Given the description of an element on the screen output the (x, y) to click on. 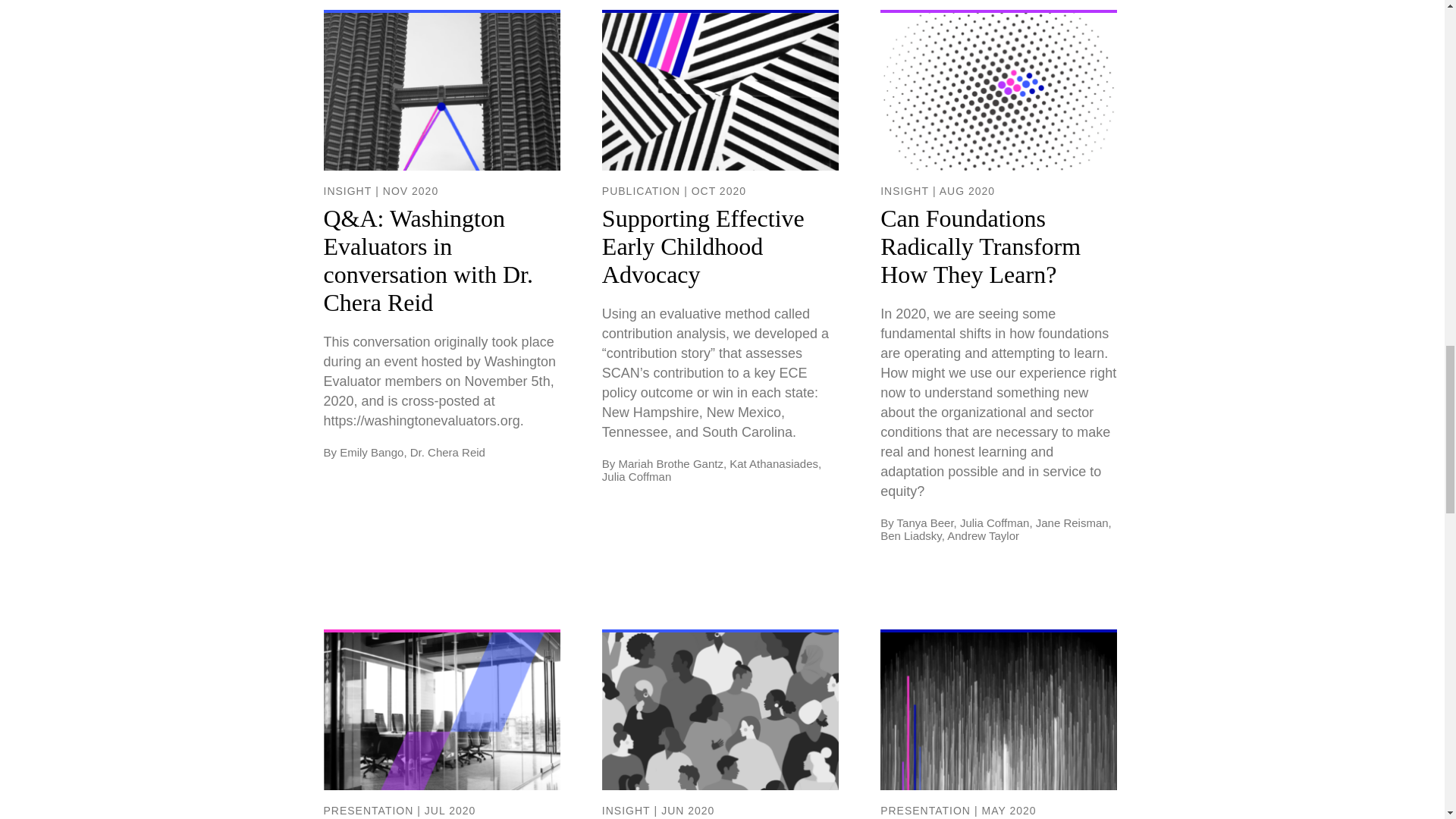
Why is Evaluation So White? (998, 725)
